Given the description of an element on the screen output the (x, y) to click on. 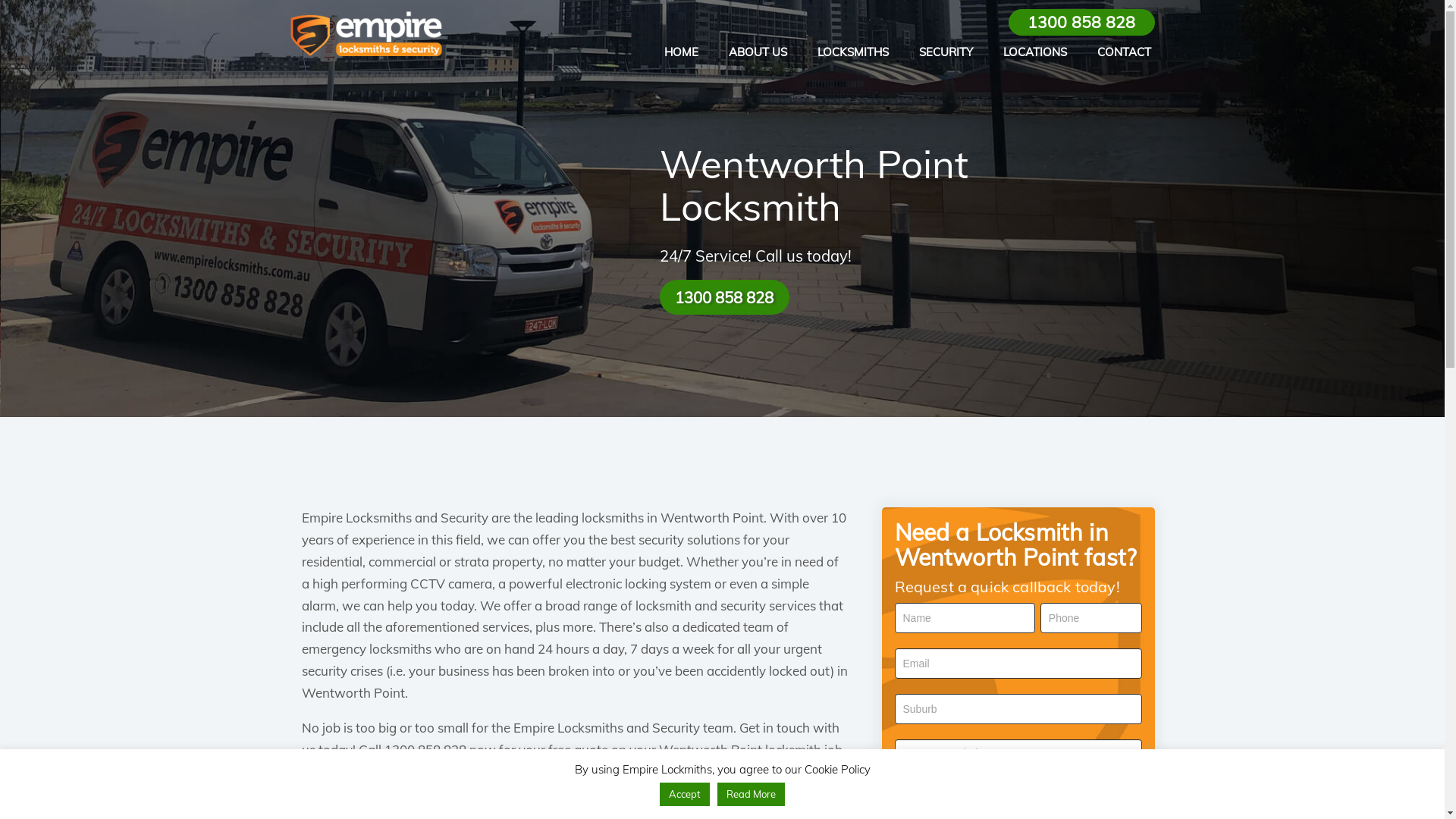
HOME Element type: text (681, 51)
Accept Element type: text (684, 794)
LOCATIONS Element type: text (1035, 51)
Read More Element type: text (750, 794)
1300 858 828 Element type: text (1081, 22)
1300 858 828 Element type: text (724, 296)
ABOUT US Element type: text (757, 51)
CONTACT Element type: text (1124, 51)
SECURITY Element type: text (945, 51)
LOCKSMITHS Element type: text (852, 51)
